Given the description of an element on the screen output the (x, y) to click on. 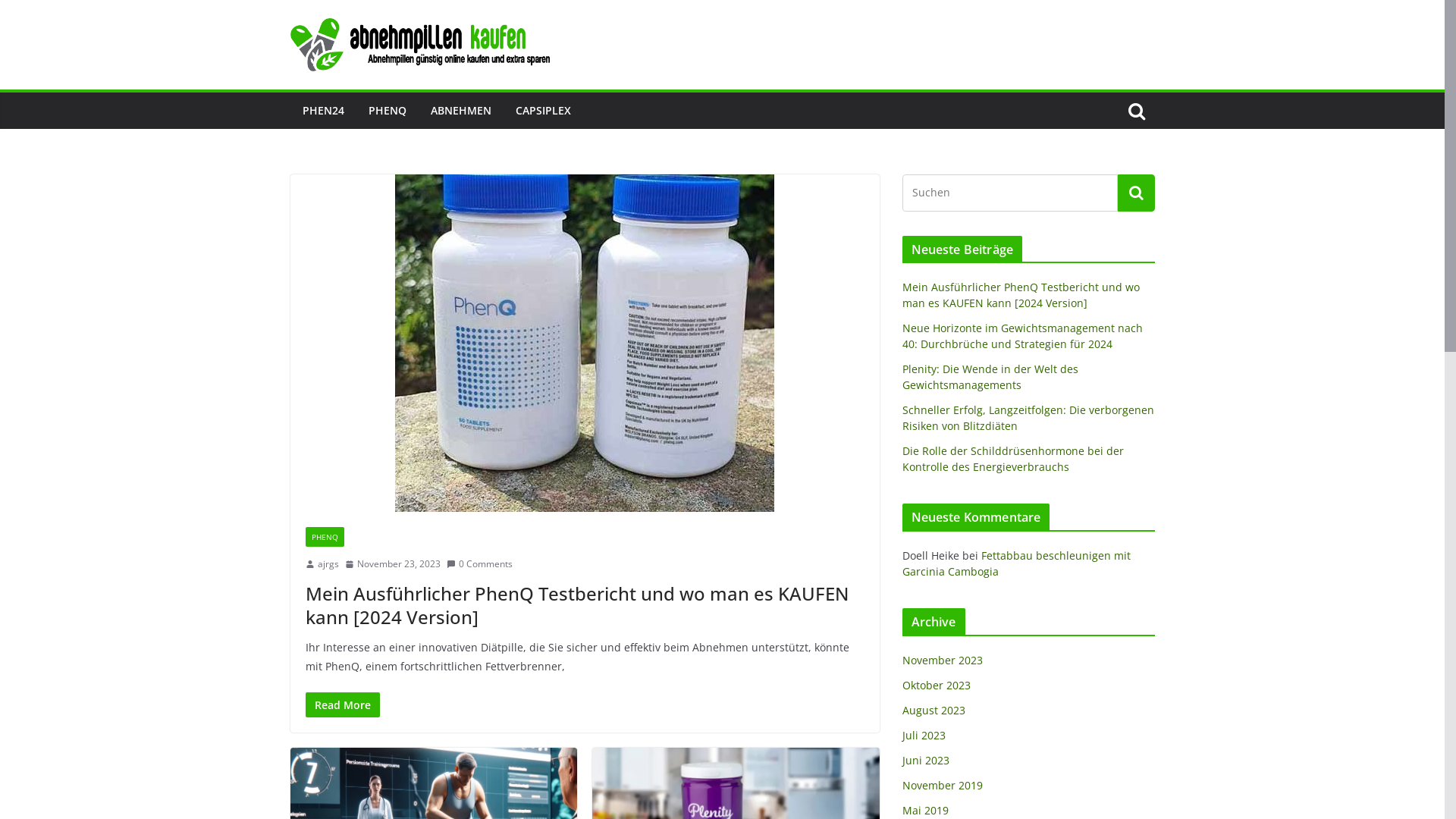
November 2019 Element type: text (942, 785)
Juli 2023 Element type: text (923, 735)
August 2023 Element type: text (933, 709)
Read More Element type: text (341, 704)
CAPSIPLEX Element type: text (543, 110)
November 23, 2023 Element type: text (391, 563)
PHEN24 Element type: text (322, 110)
ajrgs Element type: text (327, 563)
ABNEHMEN Element type: text (460, 110)
Plenity: Die Wende in der Welt des Gewichtsmanagements Element type: text (990, 376)
PHENQ Element type: text (323, 536)
Fettabbau beschleunigen mit Garcinia Cambogia Element type: text (1016, 563)
Juni 2023 Element type: text (925, 760)
PHENQ Element type: text (387, 110)
Mai 2019 Element type: text (925, 810)
November 2023 Element type: text (942, 659)
0 Comments Element type: text (478, 563)
Oktober 2023 Element type: text (936, 684)
